Given the description of an element on the screen output the (x, y) to click on. 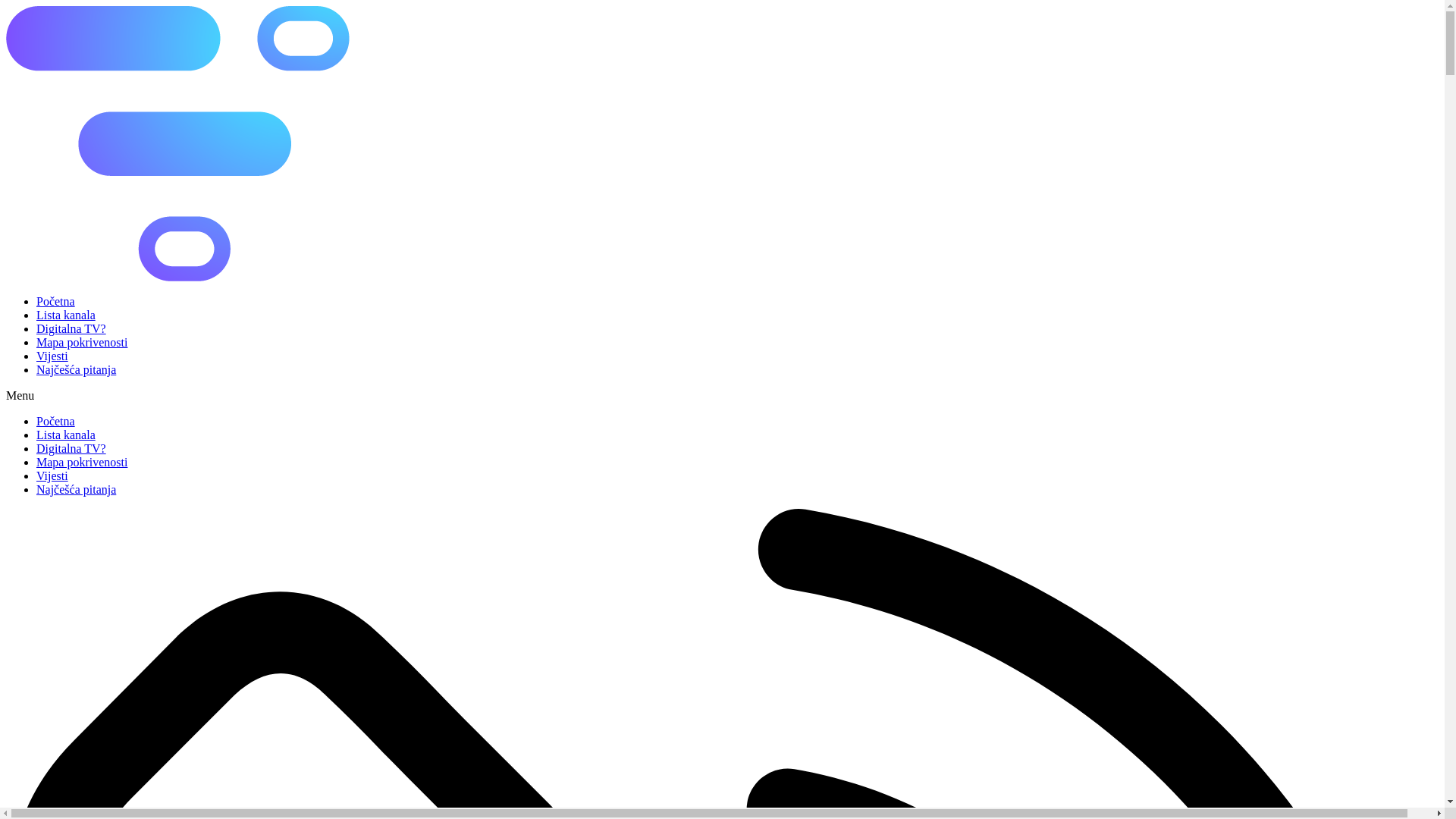
Vijesti Element type: text (52, 355)
Skip to content Element type: text (6, 6)
Mapa pokrivenosti Element type: text (81, 461)
Lista kanala Element type: text (65, 434)
Digitalna TV? Element type: text (71, 448)
Vijesti Element type: text (52, 475)
Mapa pokrivenosti Element type: text (81, 341)
Digitalna TV? Element type: text (71, 328)
Lista kanala Element type: text (65, 314)
